Given the description of an element on the screen output the (x, y) to click on. 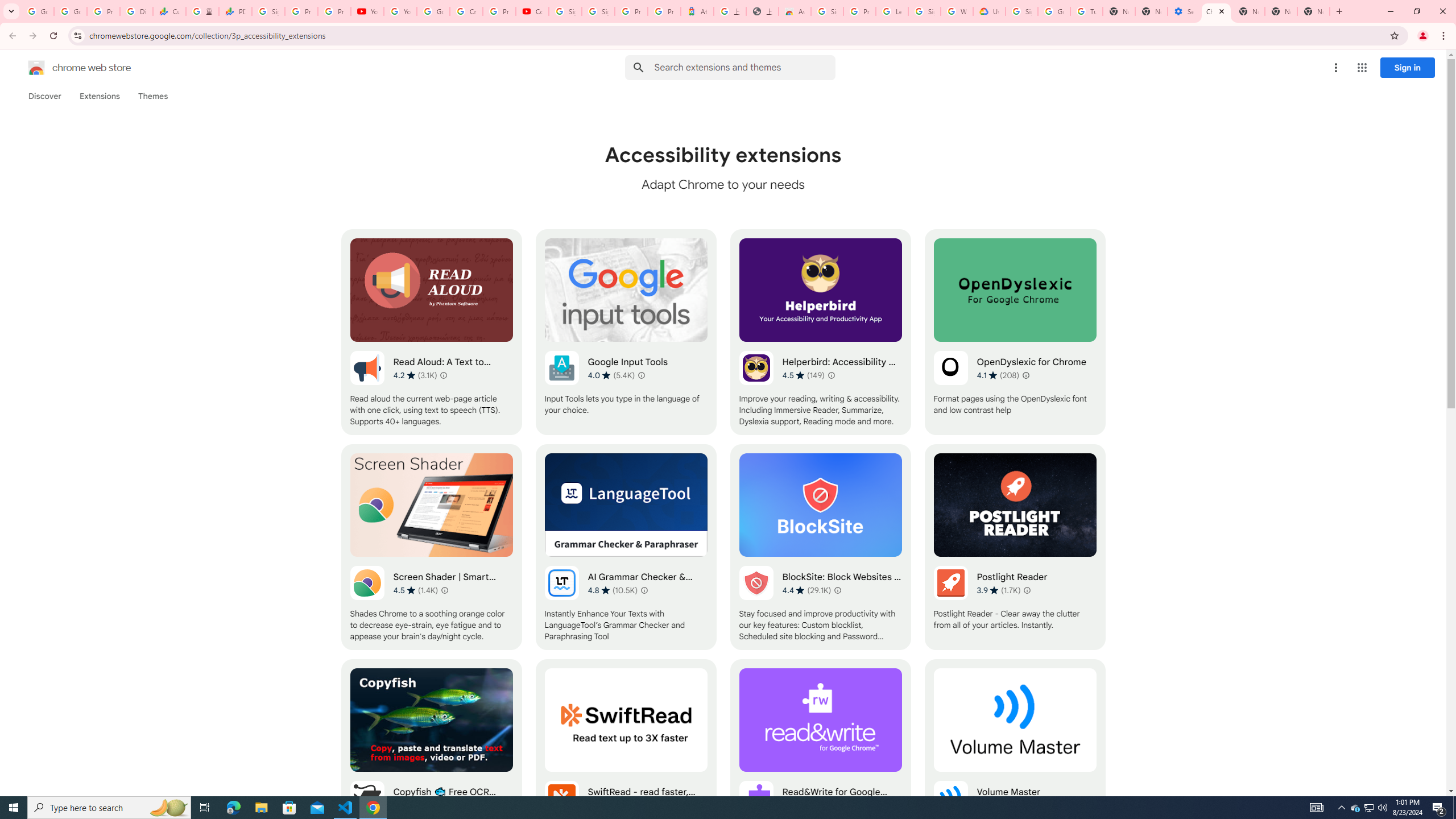
New Tab (1313, 11)
YouTube (400, 11)
Discover (43, 95)
Average rating 3.9 out of 5 stars. 1.7K ratings. (998, 590)
Chrome Web Store logo chrome web store (67, 67)
Sign in - Google Accounts (268, 11)
Sign in - Google Accounts (827, 11)
Chrome Web Store logo (36, 67)
Average rating 4.8 out of 5 stars. 10.5K ratings. (612, 590)
